Given the description of an element on the screen output the (x, y) to click on. 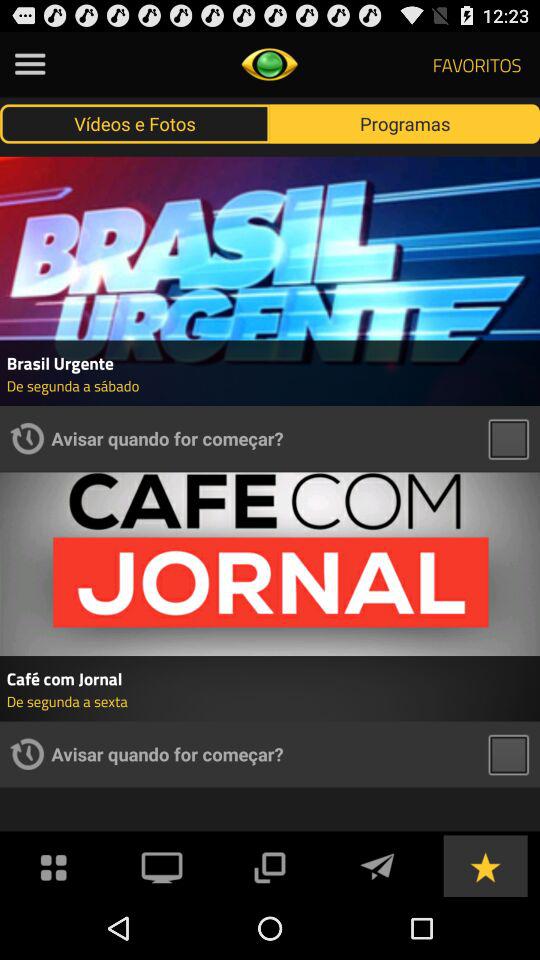
videos stil button (508, 437)
